Given the description of an element on the screen output the (x, y) to click on. 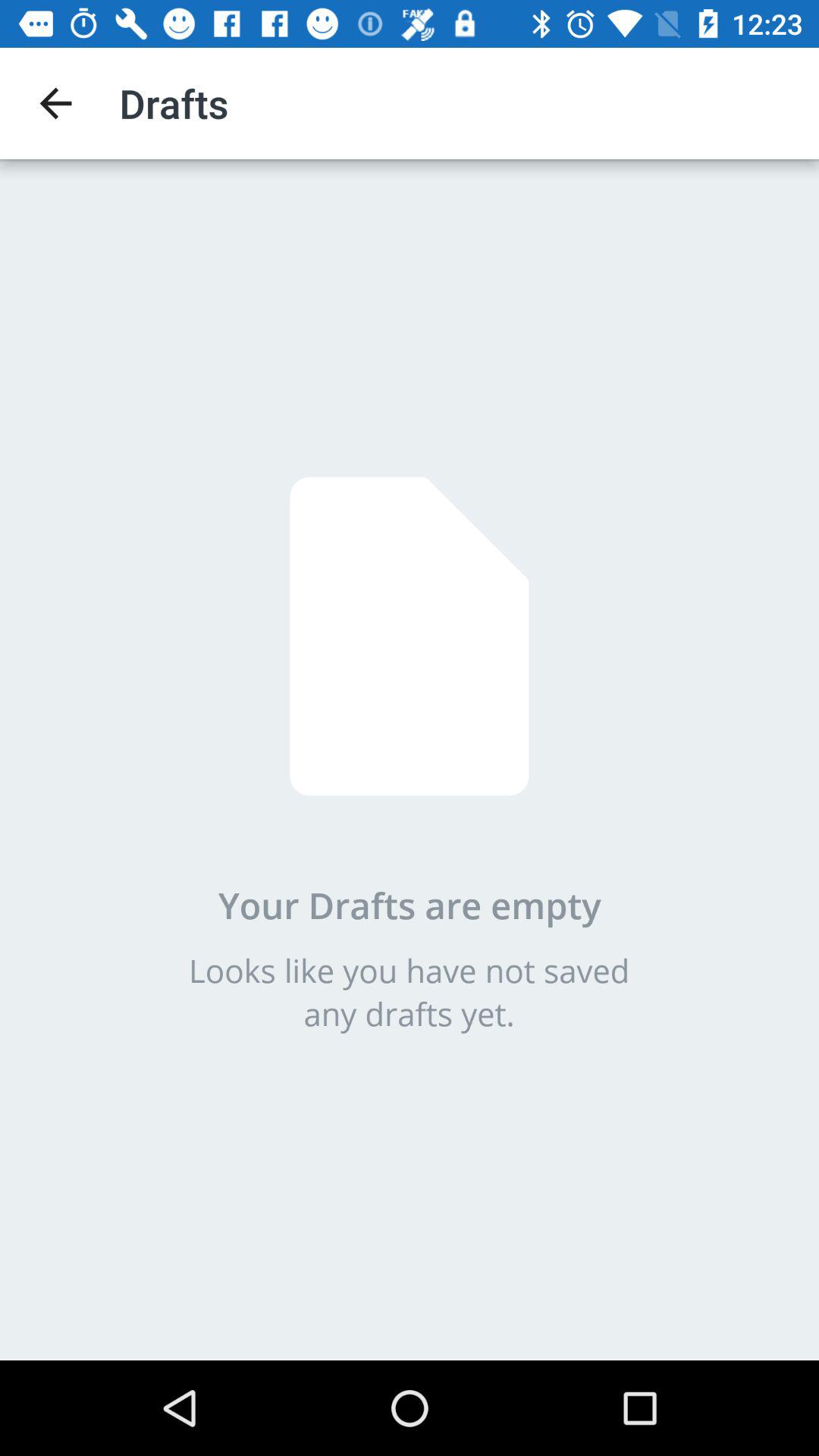
tap app to the left of drafts (55, 103)
